Given the description of an element on the screen output the (x, y) to click on. 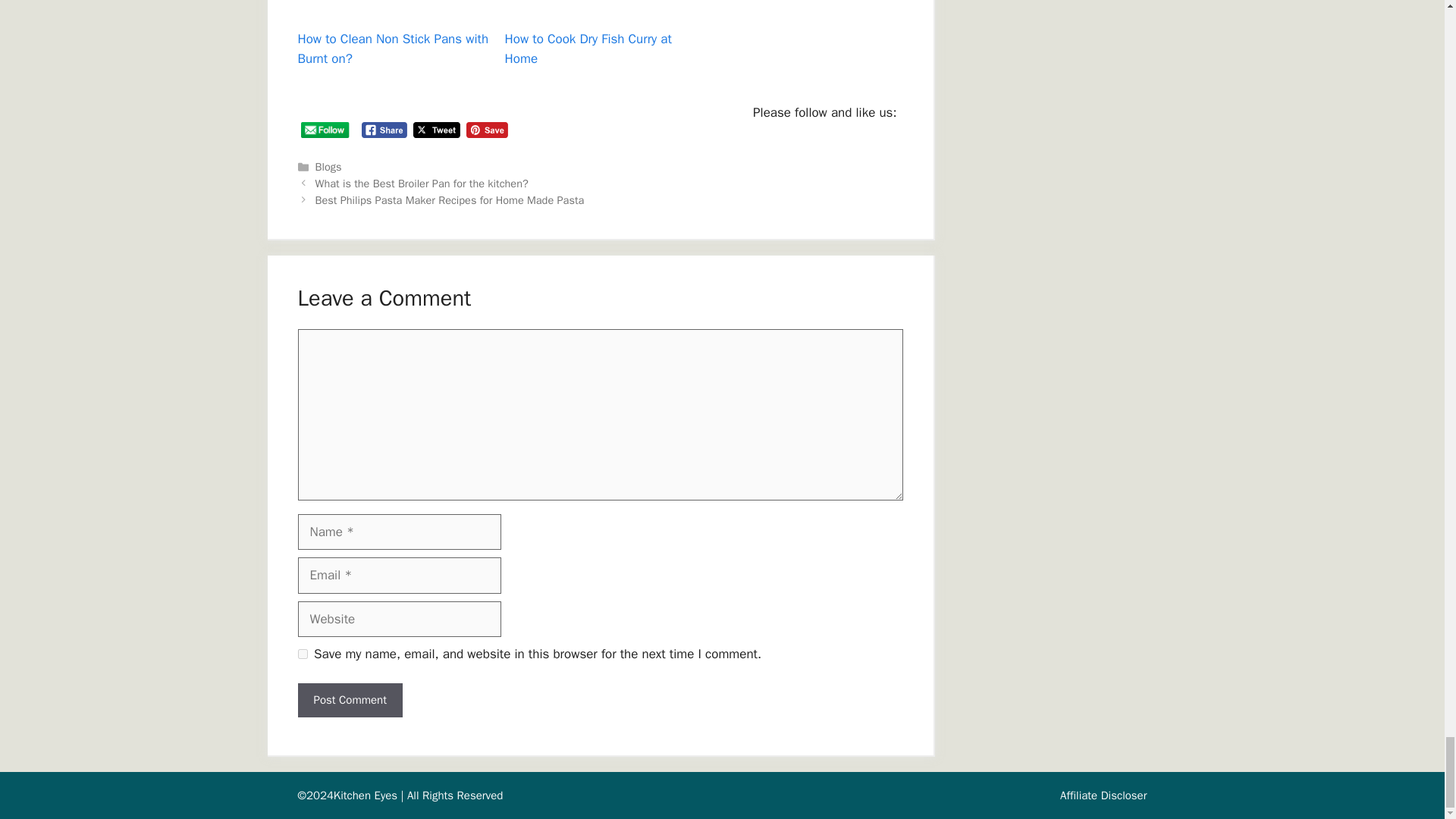
Post Comment (349, 700)
yes (302, 654)
